Given the description of an element on the screen output the (x, y) to click on. 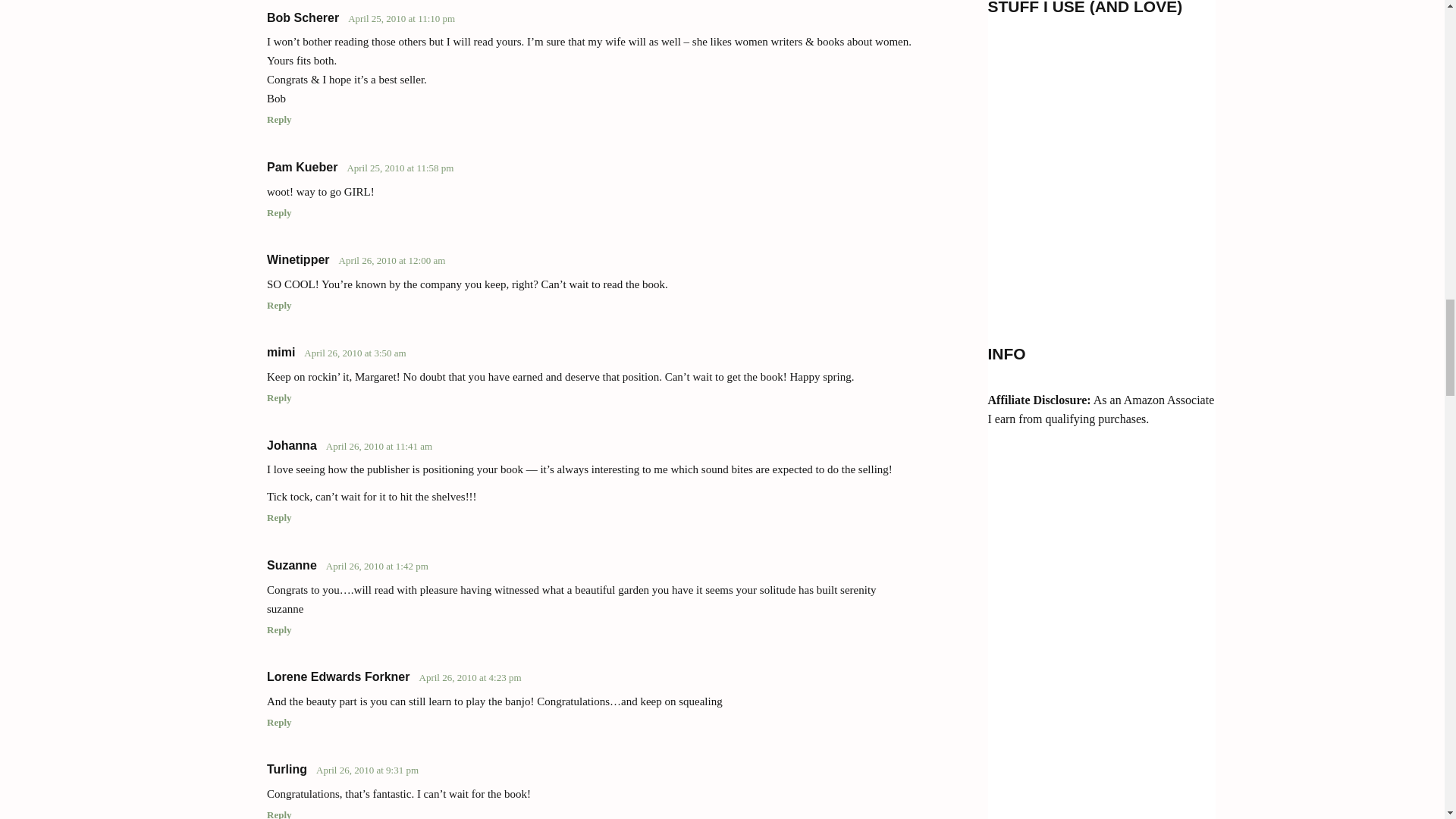
April 25, 2010 at 11:10 pm (400, 18)
